Given the description of an element on the screen output the (x, y) to click on. 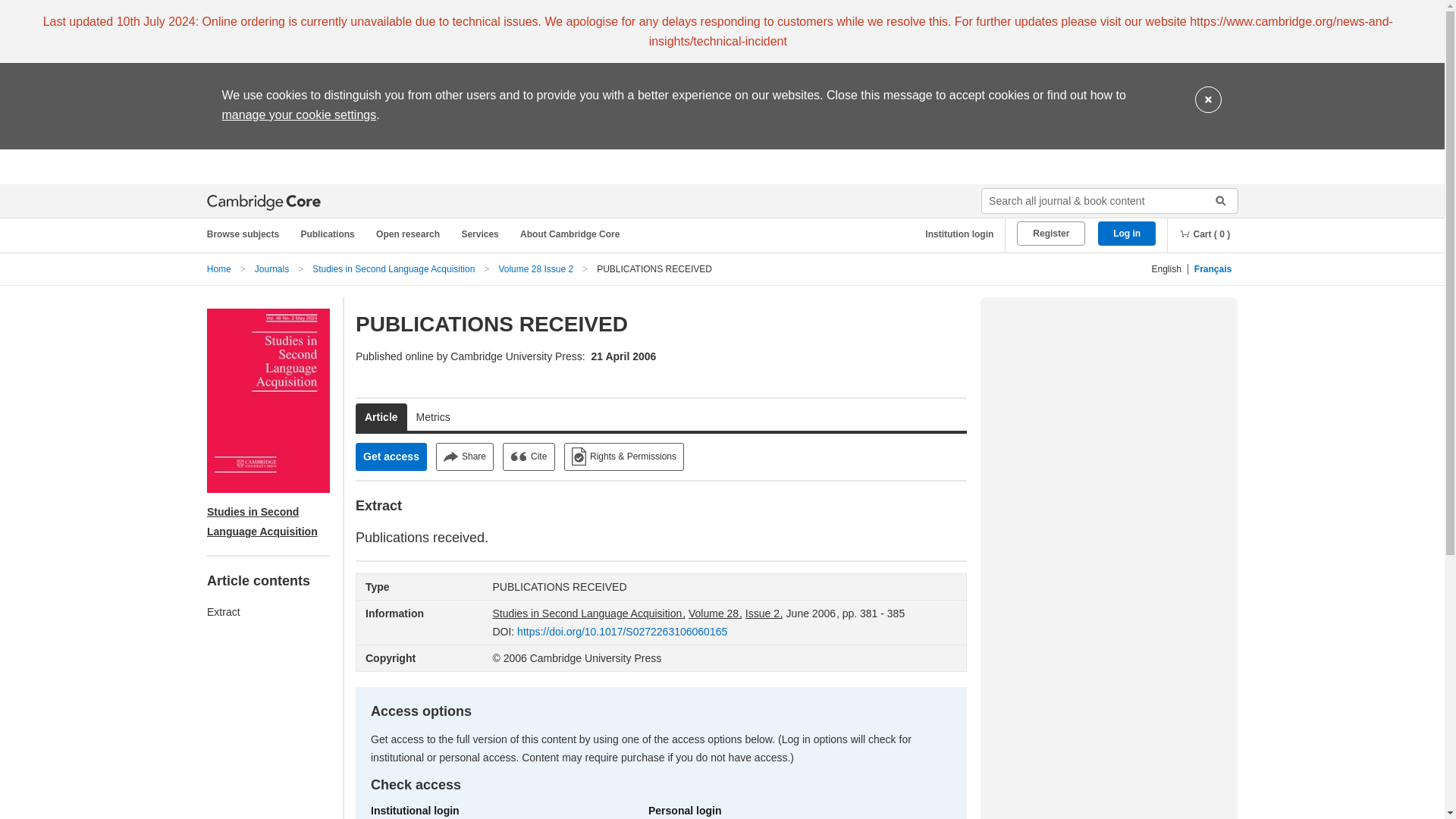
Register (1050, 233)
manage your cookie settings (298, 114)
Close cookie message (1208, 99)
Open research (410, 234)
Browse subjects (250, 234)
About Cambridge Core (572, 234)
Institution login (953, 234)
Publications (330, 234)
Services (482, 234)
Submit search (1214, 200)
Submit search (1214, 200)
